Given the description of an element on the screen output the (x, y) to click on. 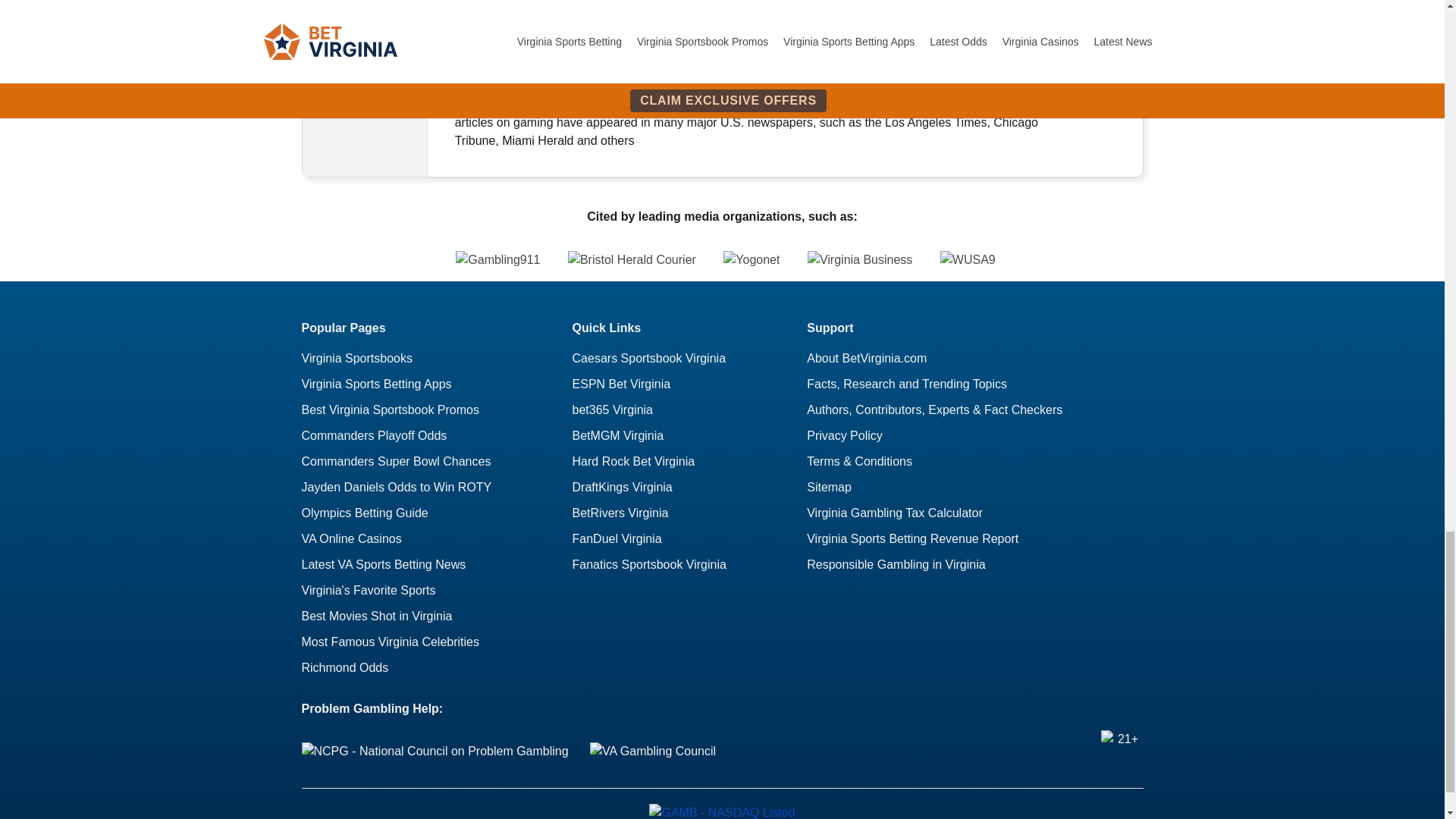
Bill Ordine (365, 70)
